Given the description of an element on the screen output the (x, y) to click on. 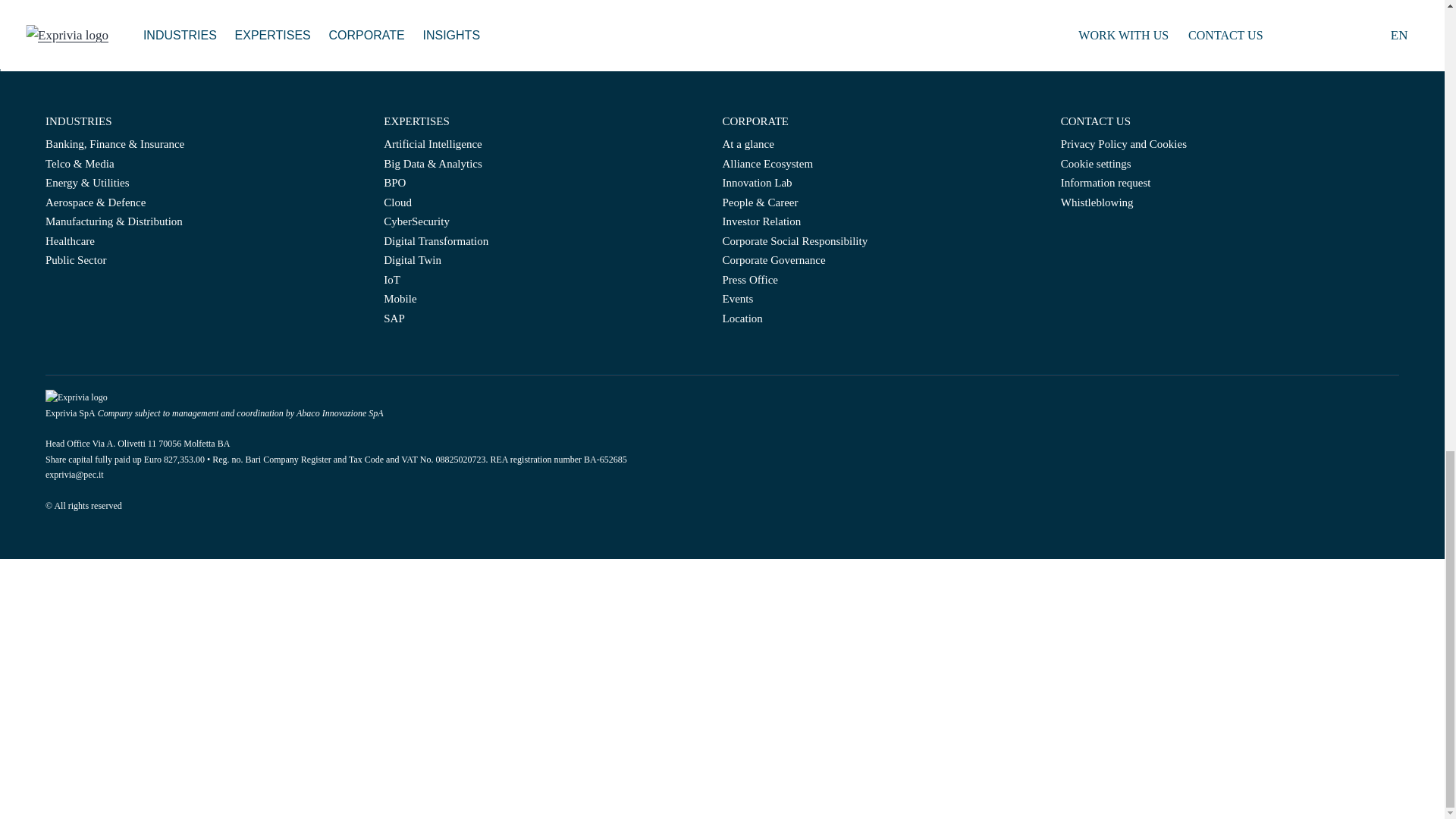
Twitter (1088, 235)
Facebook (1066, 235)
Youtube (1100, 235)
LinkedIn (1077, 235)
